Given the description of an element on the screen output the (x, y) to click on. 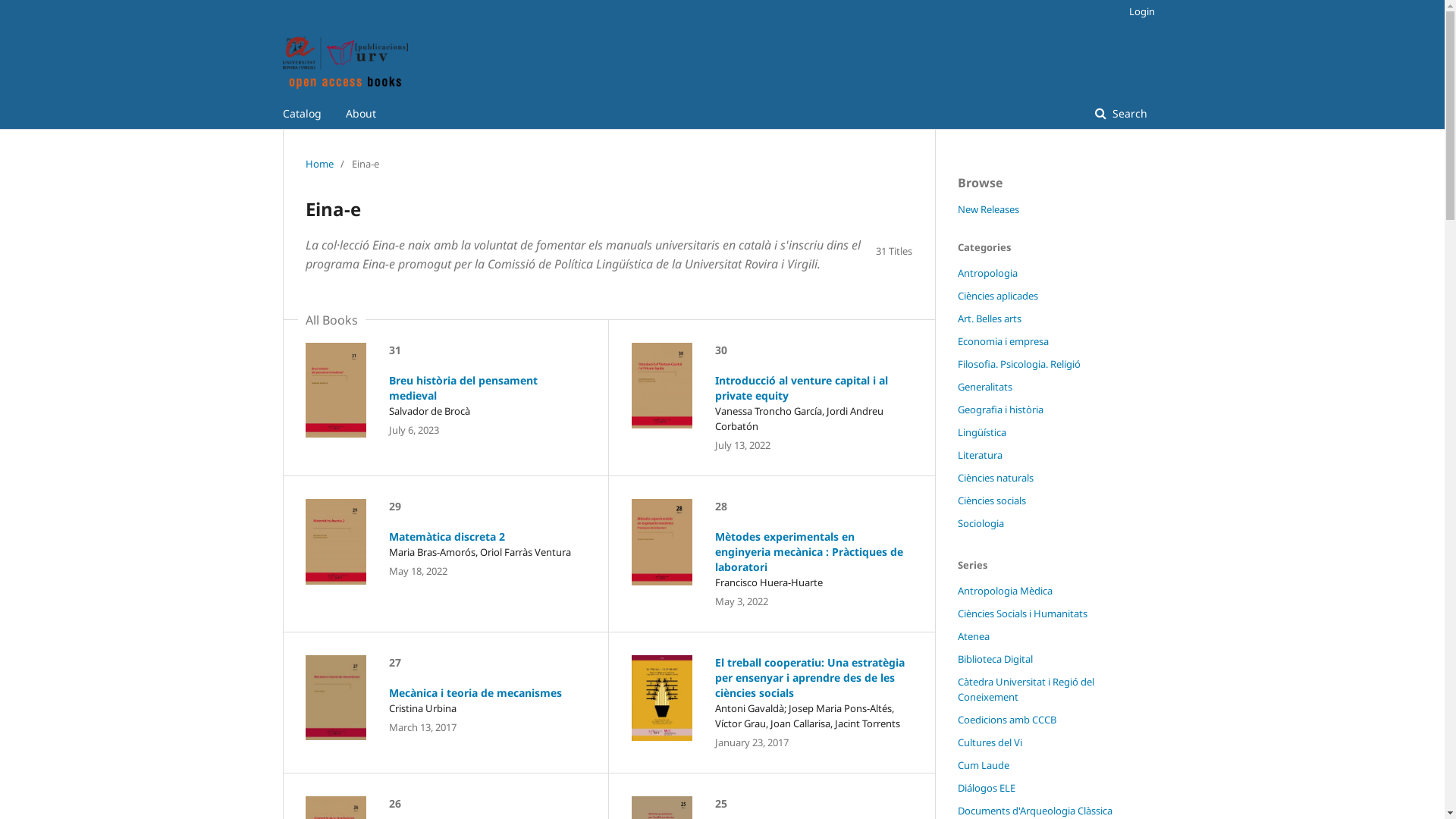
Atenea Element type: text (972, 636)
Cultures del Vi Element type: text (989, 742)
Sociologia Element type: text (980, 523)
Login Element type: text (1137, 11)
New Releases Element type: text (987, 209)
Generalitats Element type: text (984, 386)
Cum Laude Element type: text (982, 764)
Home Element type: text (318, 163)
Antropologia Element type: text (986, 272)
Biblioteca Digital Element type: text (994, 658)
Search Element type: text (1120, 113)
Art. Belles arts Element type: text (988, 318)
Literatura Element type: text (979, 454)
Economia i empresa Element type: text (1002, 341)
Catalog Element type: text (301, 113)
Coedicions amb CCCB Element type: text (1006, 719)
About Element type: text (360, 113)
